Given the description of an element on the screen output the (x, y) to click on. 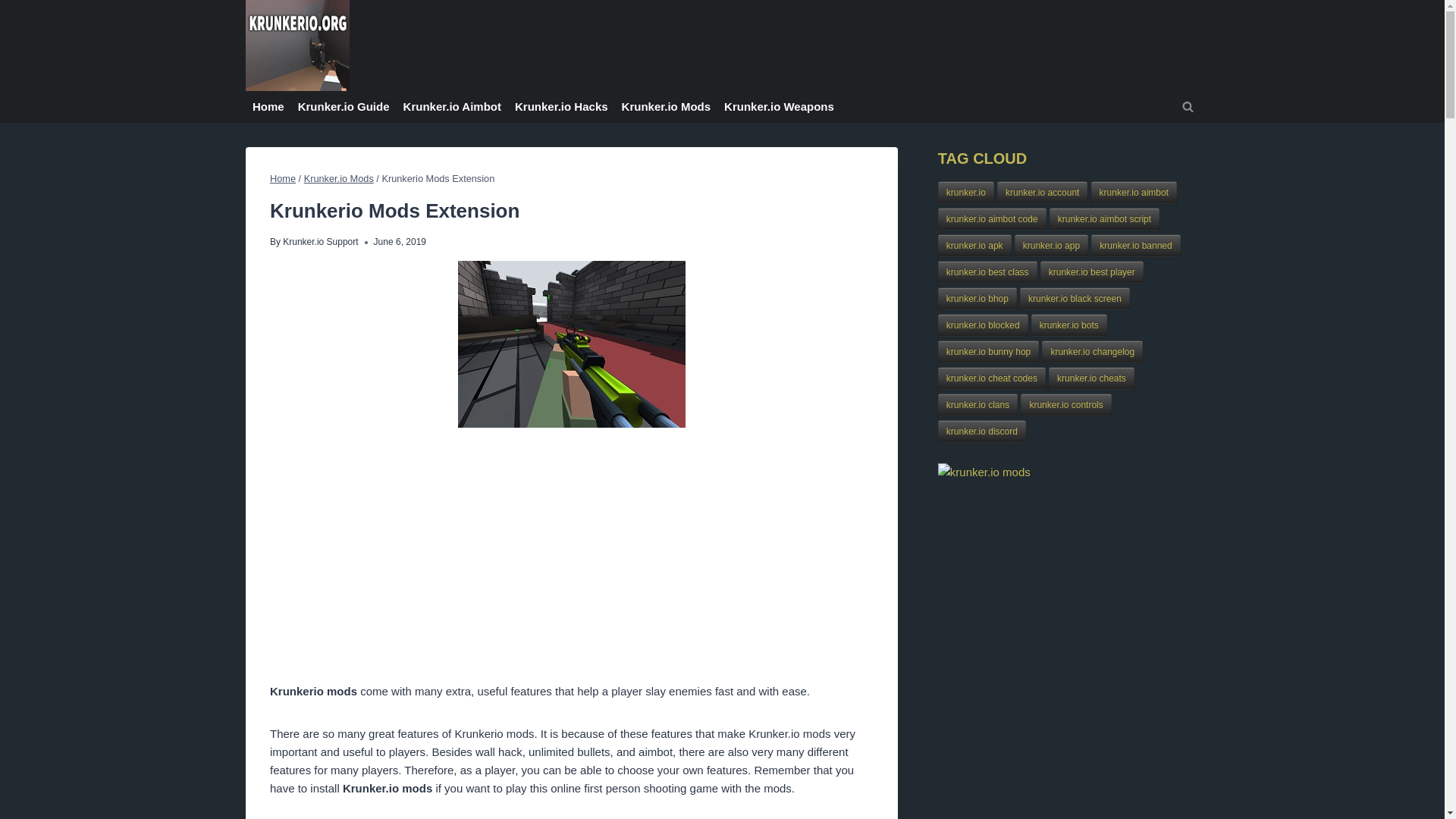
Home (268, 106)
Krunker.io Mods (339, 178)
Home (282, 178)
Krunker.io Aimbot (452, 106)
Krunker.io Support (320, 241)
Krunker.io Hacks (561, 106)
Krunker.io Mods (665, 106)
Krunker.io Guide (343, 106)
Krunker.io Weapons (779, 106)
